Given the description of an element on the screen output the (x, y) to click on. 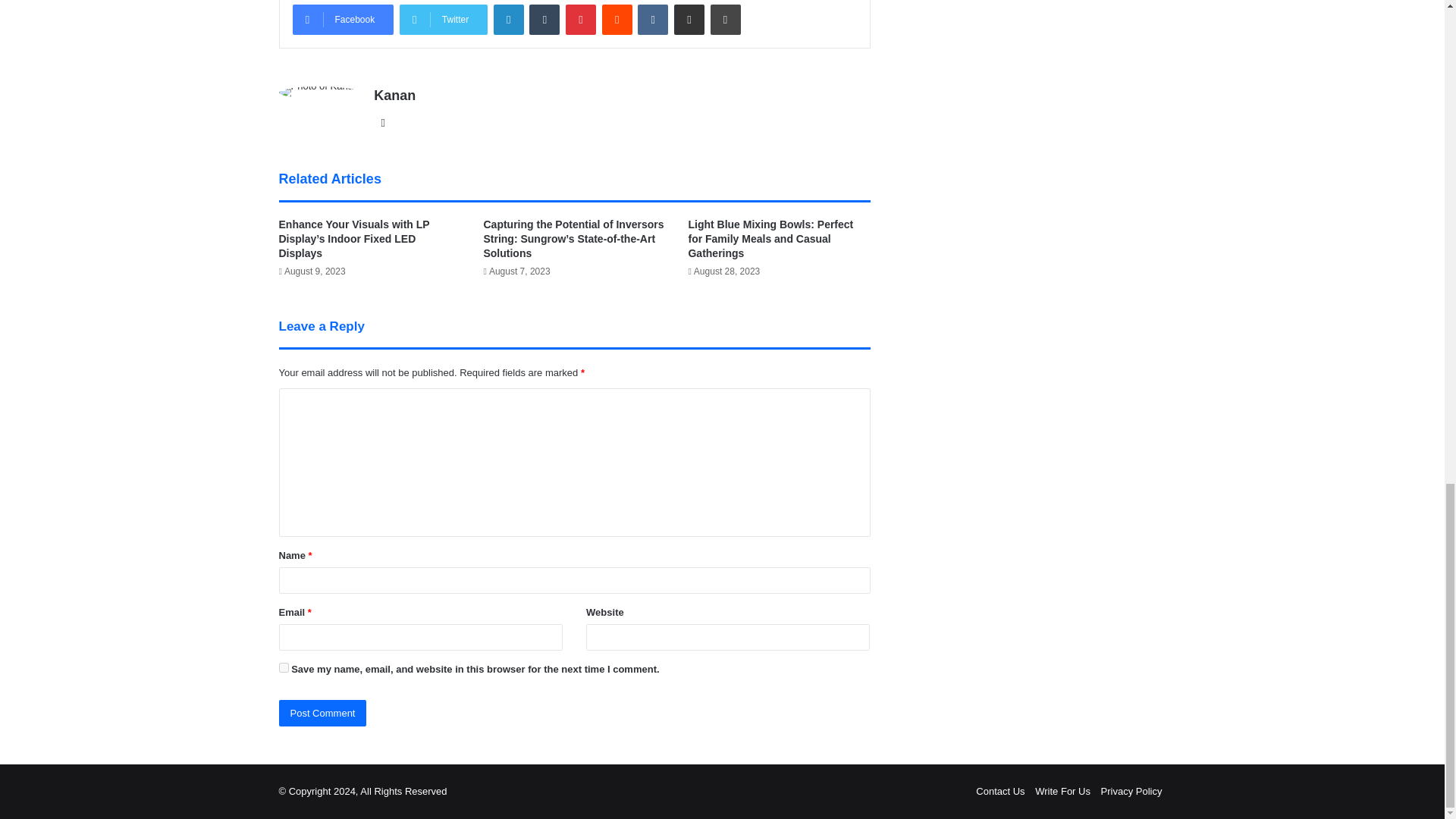
Pinterest (580, 19)
VKontakte (652, 19)
Website (382, 122)
LinkedIn (508, 19)
Tumblr (544, 19)
Facebook (343, 19)
Reddit (616, 19)
VKontakte (652, 19)
Pinterest (580, 19)
Share via Email (689, 19)
yes (283, 667)
Share via Email (689, 19)
Print (725, 19)
Print (725, 19)
Reddit (616, 19)
